Given the description of an element on the screen output the (x, y) to click on. 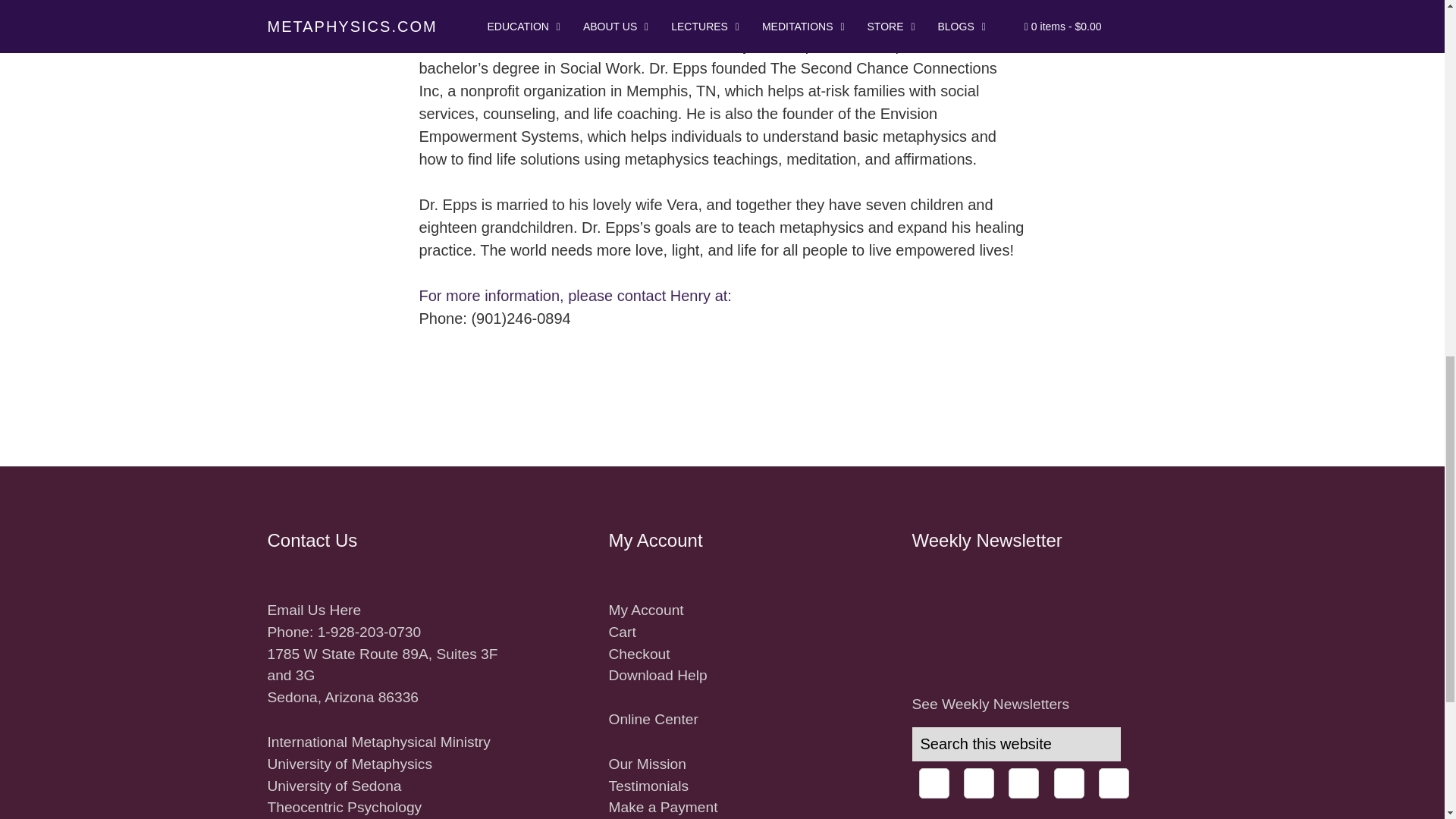
imm-facebook (933, 783)
imm-linkedin (1024, 783)
imm-twitter (1069, 783)
imm-instagram (978, 783)
imm-youtube (1114, 783)
